Given the description of an element on the screen output the (x, y) to click on. 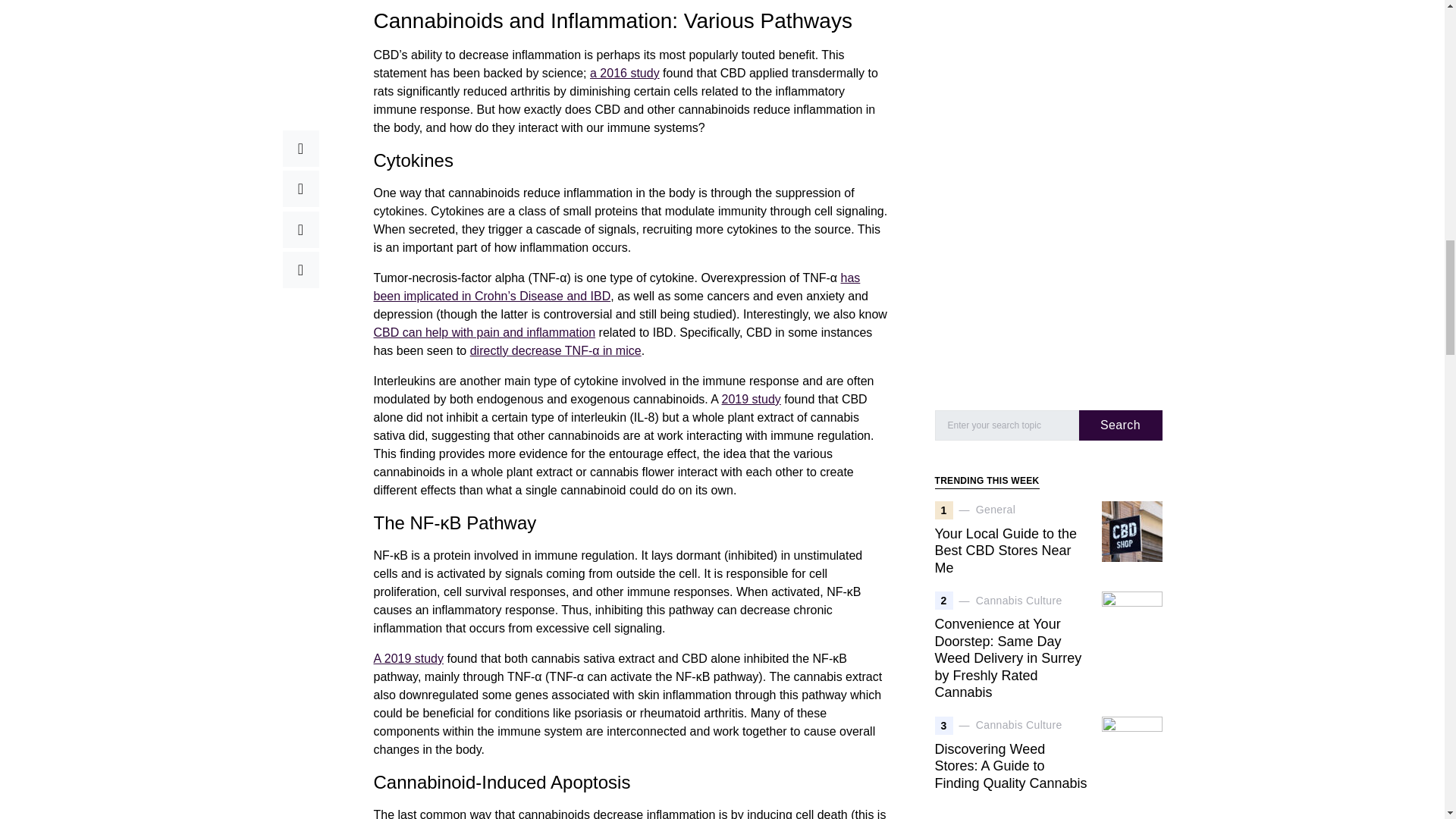
2019 study (751, 399)
A 2019 study (408, 658)
a 2016 study (624, 72)
CBD can help with pain and inflammation (483, 332)
